Given the description of an element on the screen output the (x, y) to click on. 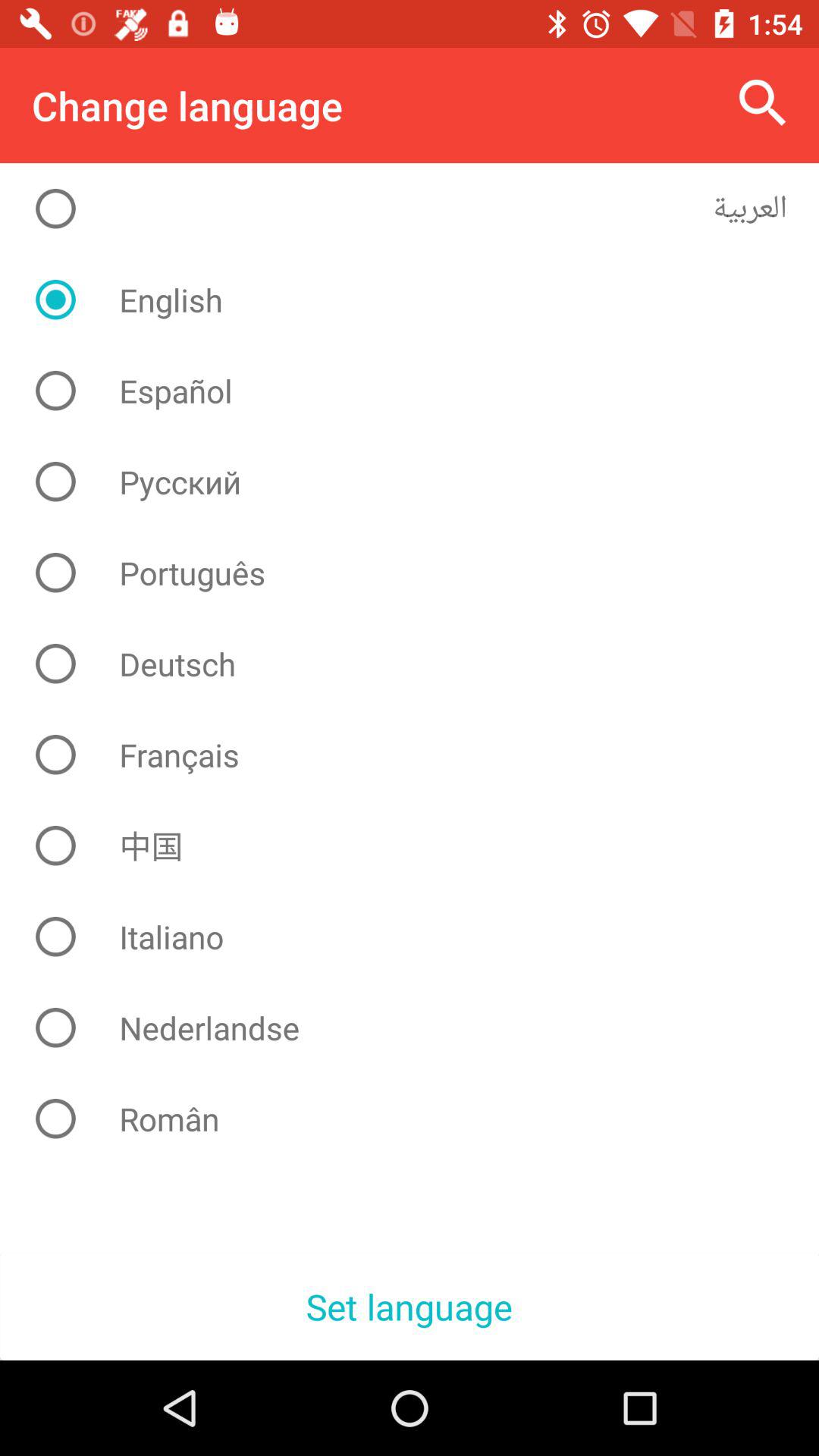
select the item above the deutsch icon (421, 572)
